Given the description of an element on the screen output the (x, y) to click on. 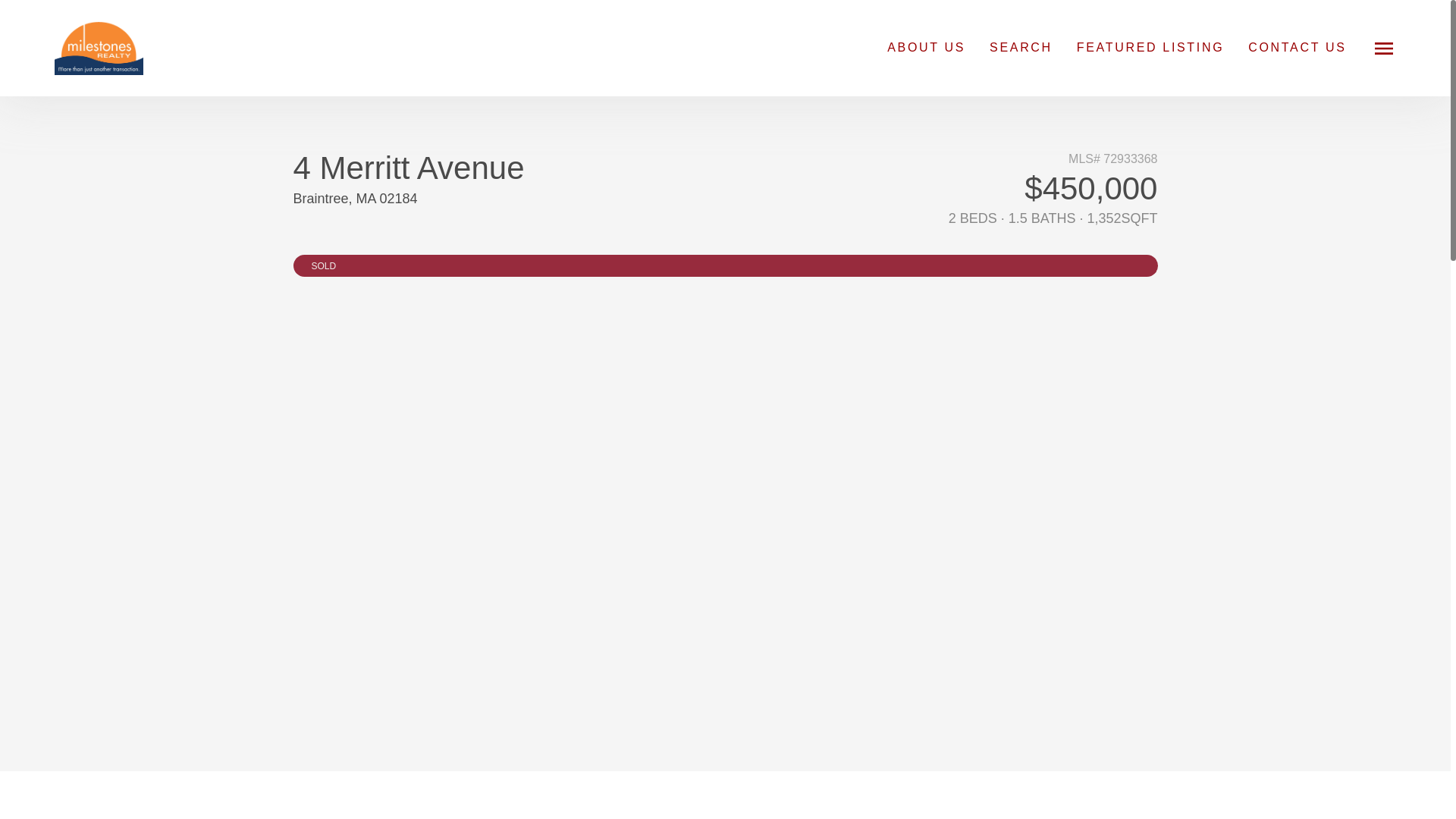
CONTACT US (1296, 47)
FEATURED LISTING (1150, 47)
ABOUT US (925, 47)
SEARCH (1021, 47)
